Given the description of an element on the screen output the (x, y) to click on. 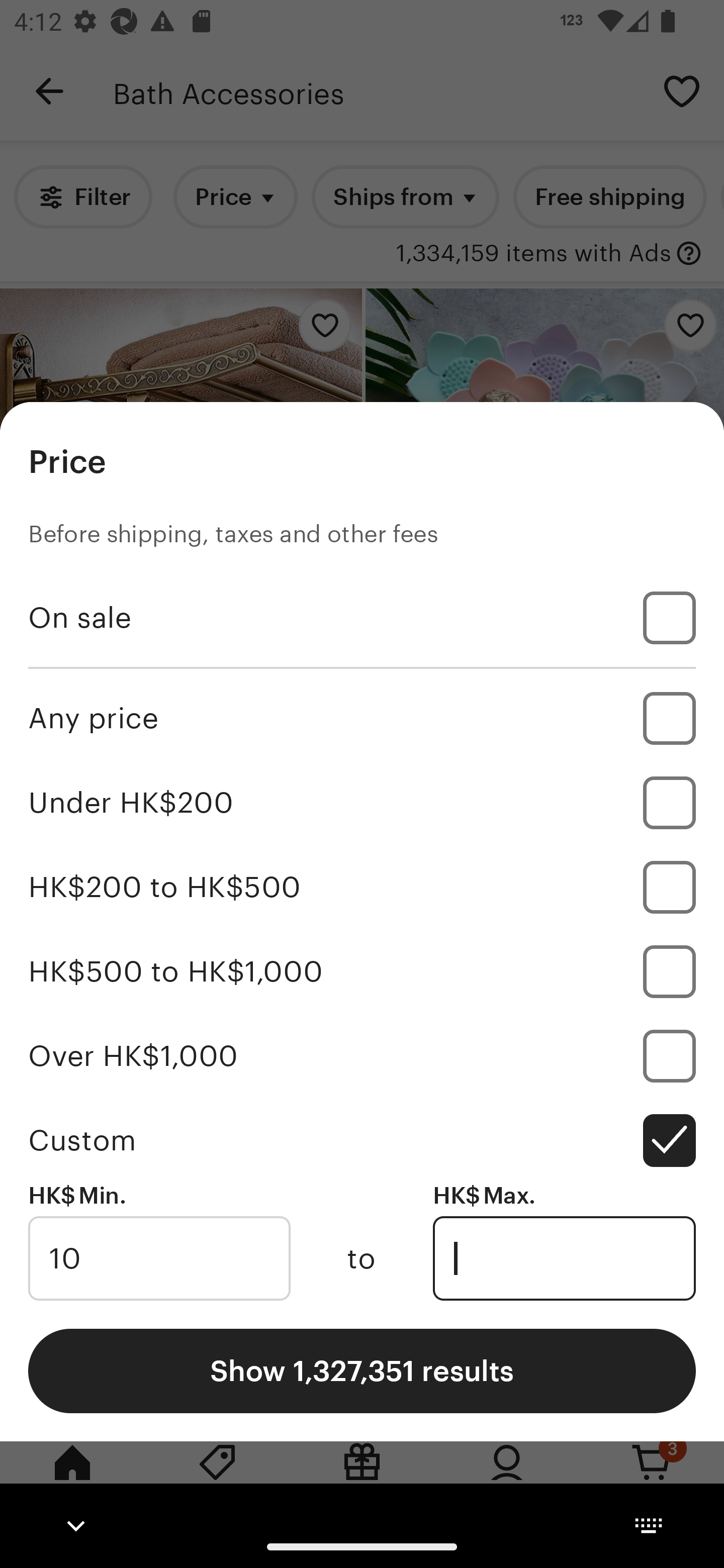
On sale (362, 617)
Any price (362, 717)
Under HK$200 (362, 802)
HK$200 to HK$500 (362, 887)
HK$500 to HK$1,000 (362, 970)
Over HK$1,000 (362, 1054)
Custom (362, 1139)
10 (159, 1257)
Show 1,327,351 results (361, 1370)
